Given the description of an element on the screen output the (x, y) to click on. 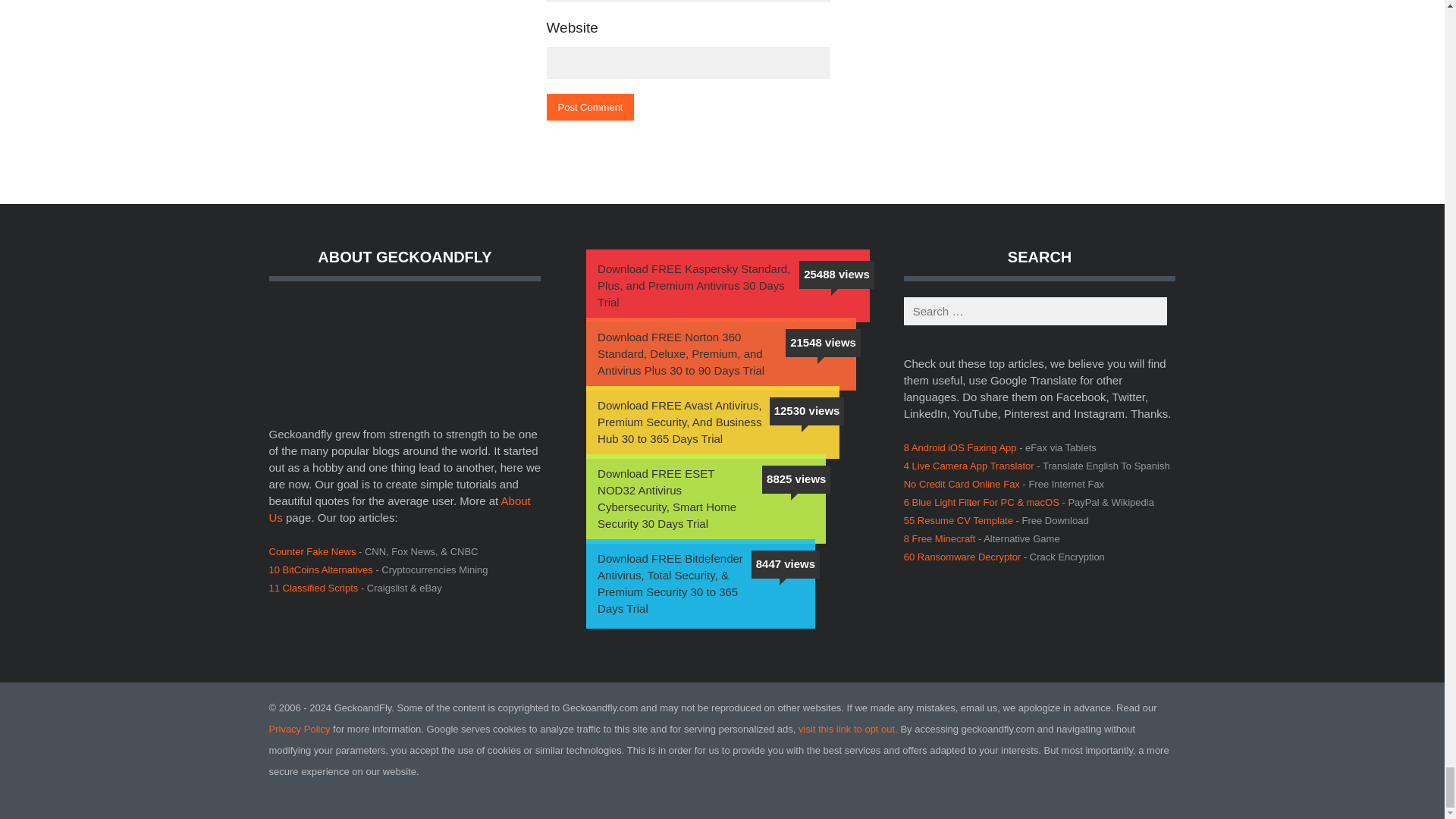
Search for: (1035, 311)
Post Comment (589, 107)
